Given the description of an element on the screen output the (x, y) to click on. 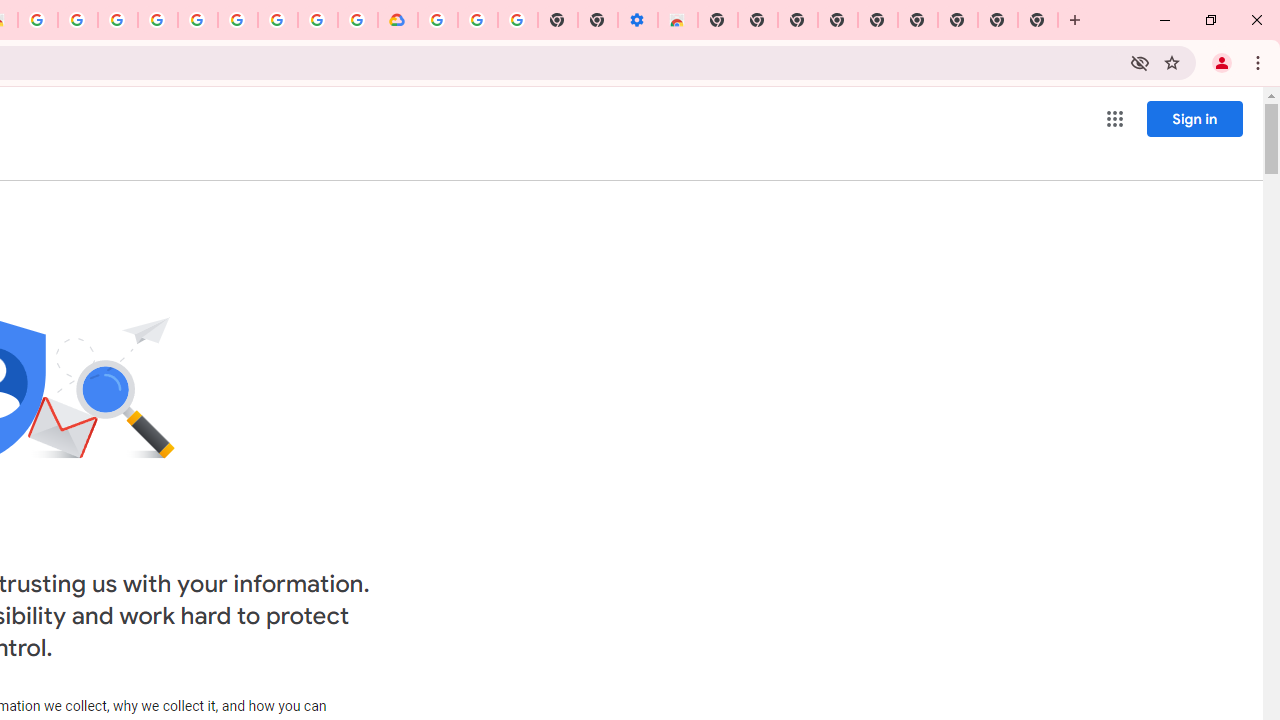
Turn cookies on or off - Computer - Google Account Help (517, 20)
Chrome Web Store - Accessibility extensions (677, 20)
Sign in - Google Accounts (197, 20)
Sign in - Google Accounts (438, 20)
Browse the Google Chrome Community - Google Chrome Community (357, 20)
New Tab (1037, 20)
Create your Google Account (77, 20)
